Given the description of an element on the screen output the (x, y) to click on. 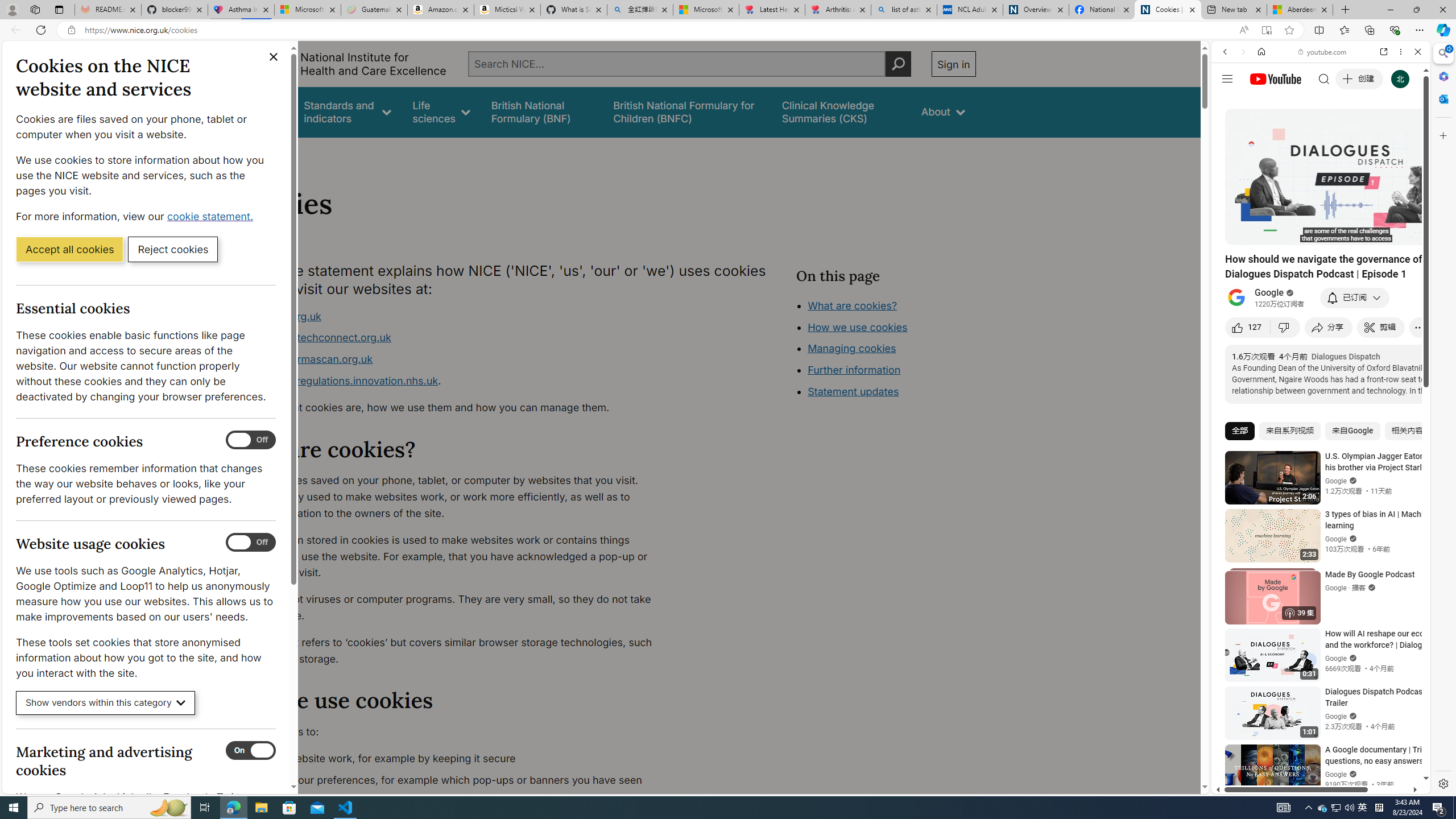
www.nice.org.uk (279, 315)
Cookies | About | NICE (1167, 9)
Class: ytp-subtitles-button-icon (1368, 234)
YouTube (1315, 655)
US[ju] (1249, 785)
